Given the description of an element on the screen output the (x, y) to click on. 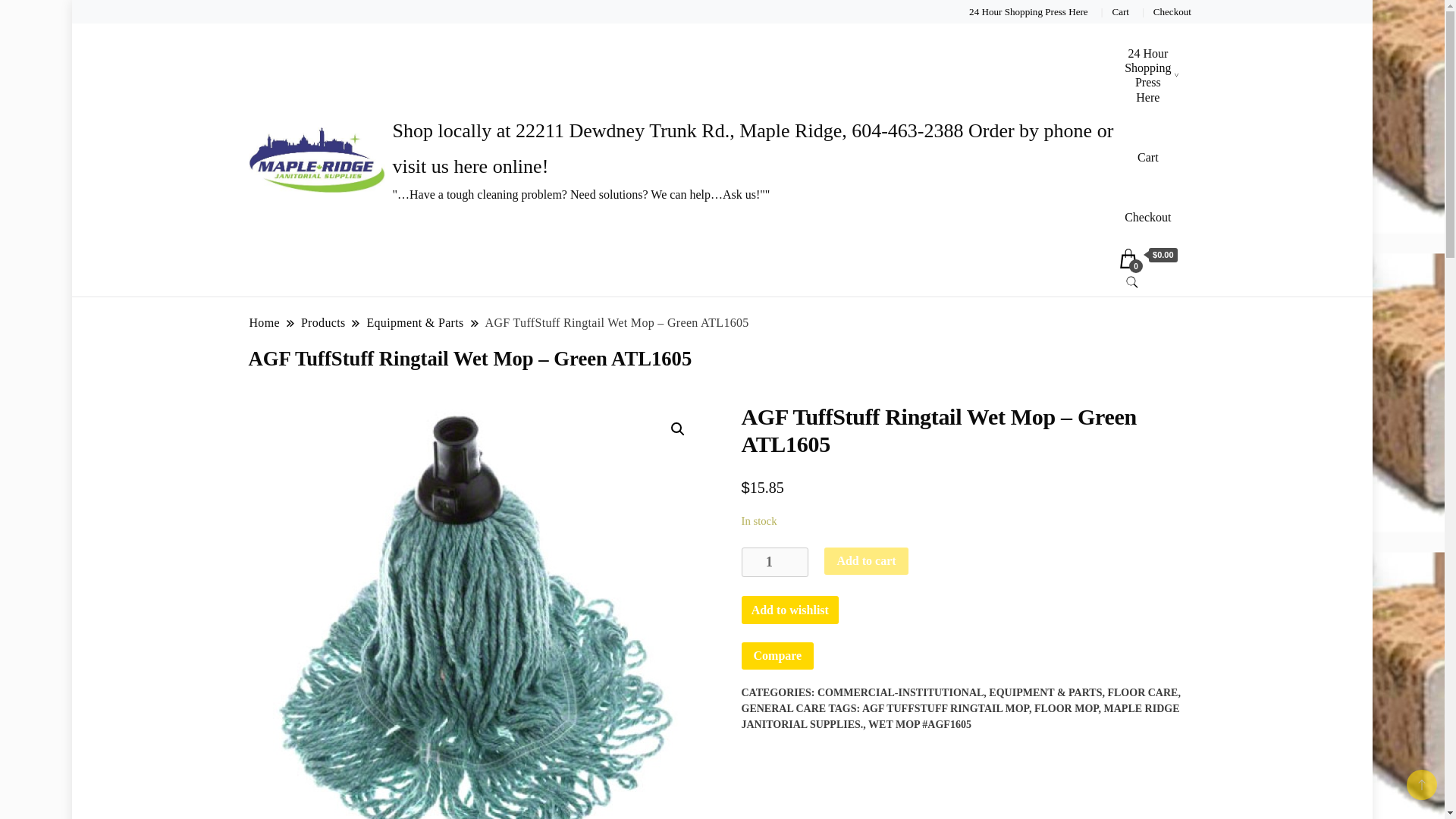
Checkout (1147, 217)
1 (775, 562)
Cart (1120, 11)
Checkout (1172, 11)
24 Hour Shopping Press Here (1028, 11)
